Given the description of an element on the screen output the (x, y) to click on. 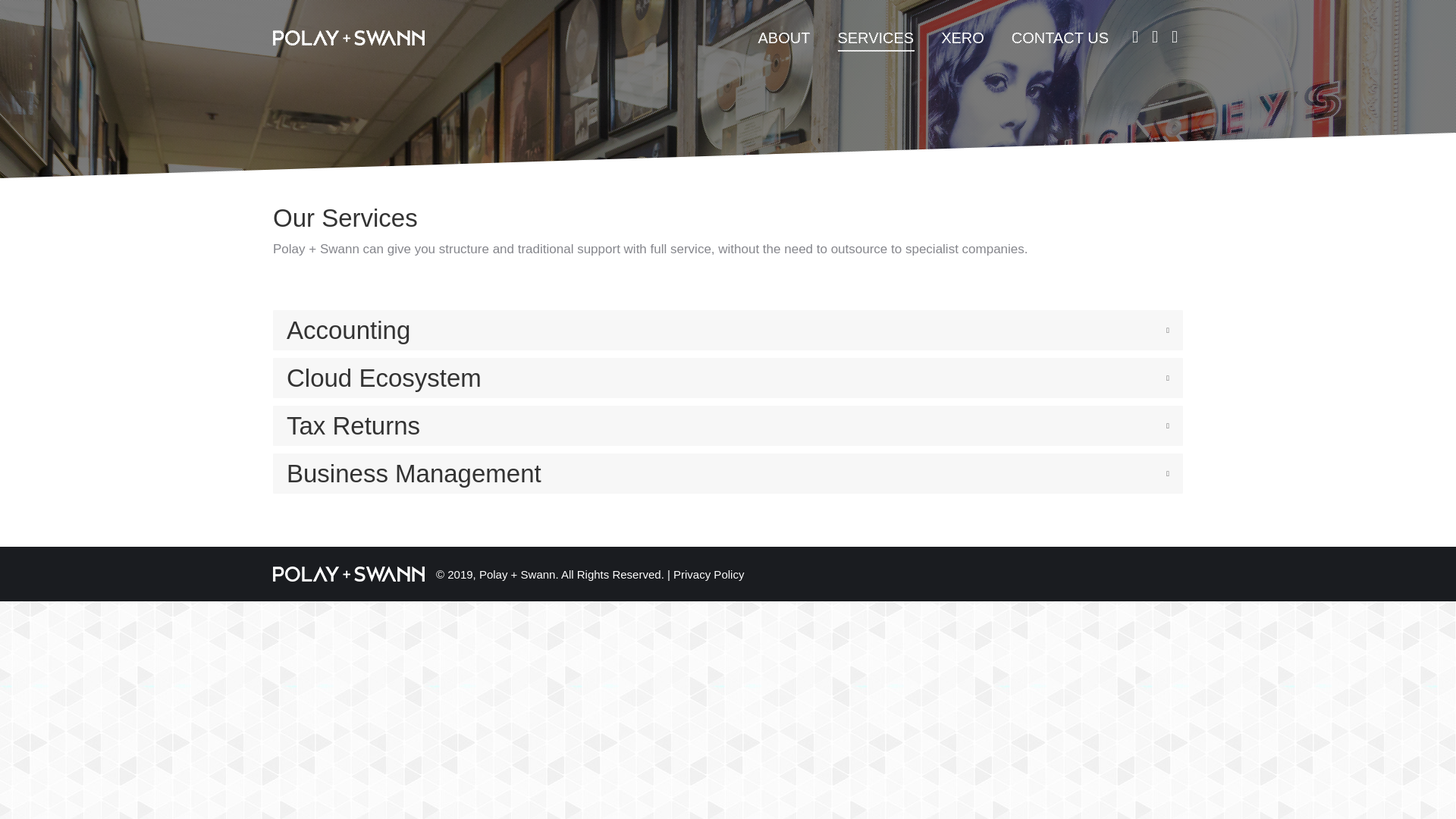
Facebook (1155, 36)
Business Management (727, 473)
Linkedin (1174, 36)
CONTACT US (1060, 37)
ABOUT (783, 37)
Privacy Policy (708, 573)
SERVICES (875, 37)
Facebook (1155, 36)
Cloud Ecosystem (727, 377)
Twitter (1134, 36)
